Given the description of an element on the screen output the (x, y) to click on. 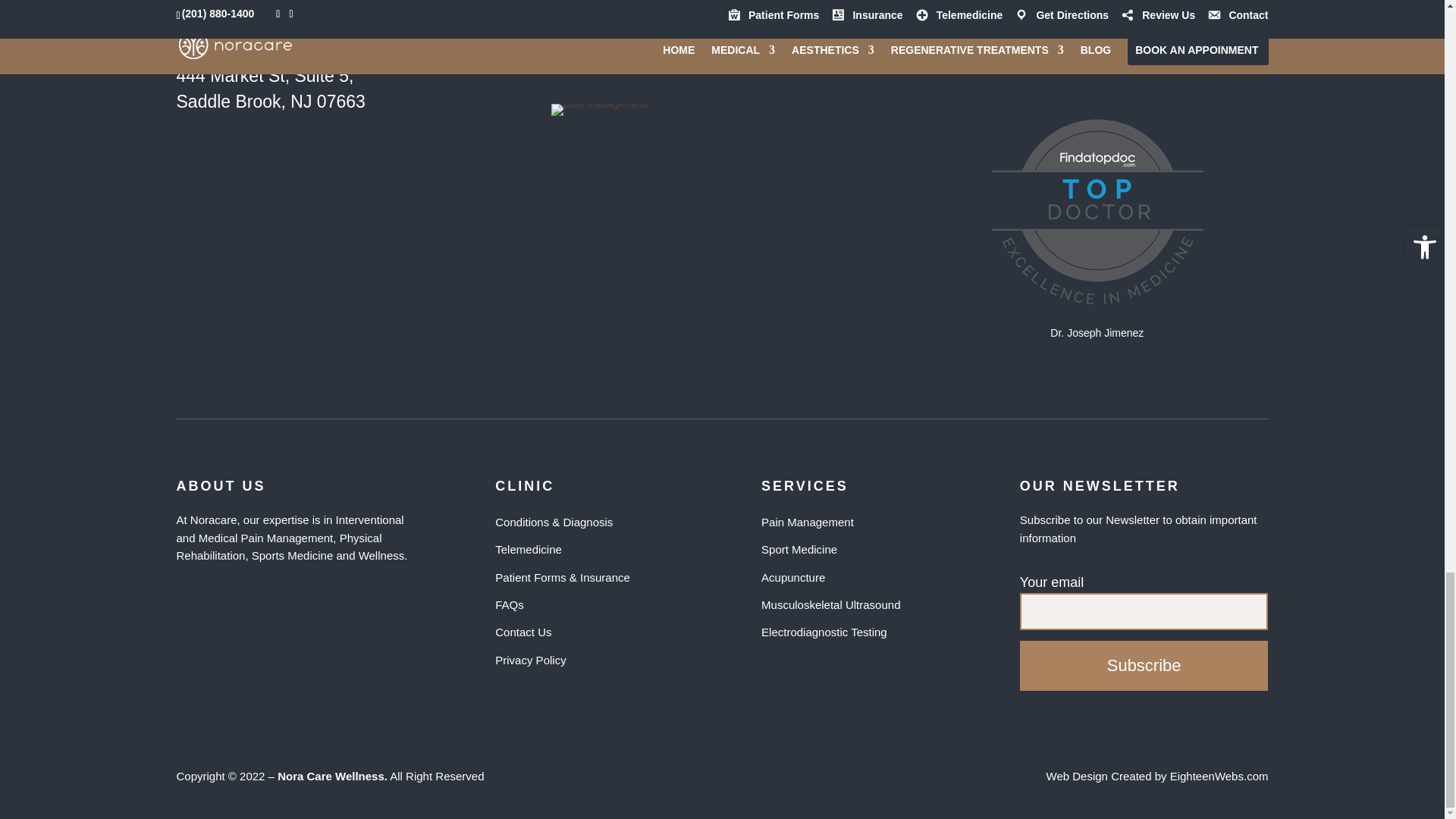
Subscribe (1144, 665)
